Given the description of an element on the screen output the (x, y) to click on. 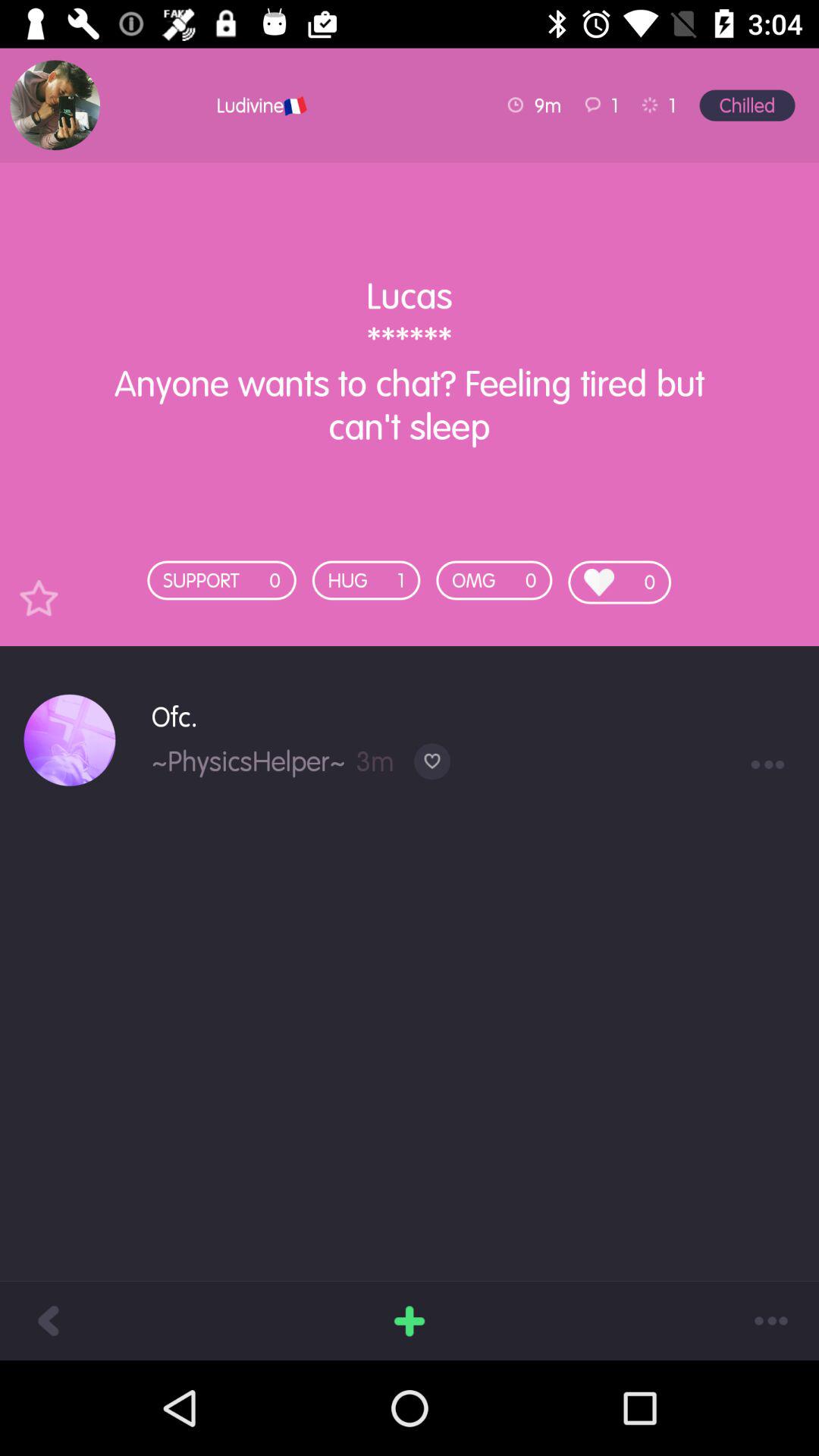
favorites (38, 597)
